Given the description of an element on the screen output the (x, y) to click on. 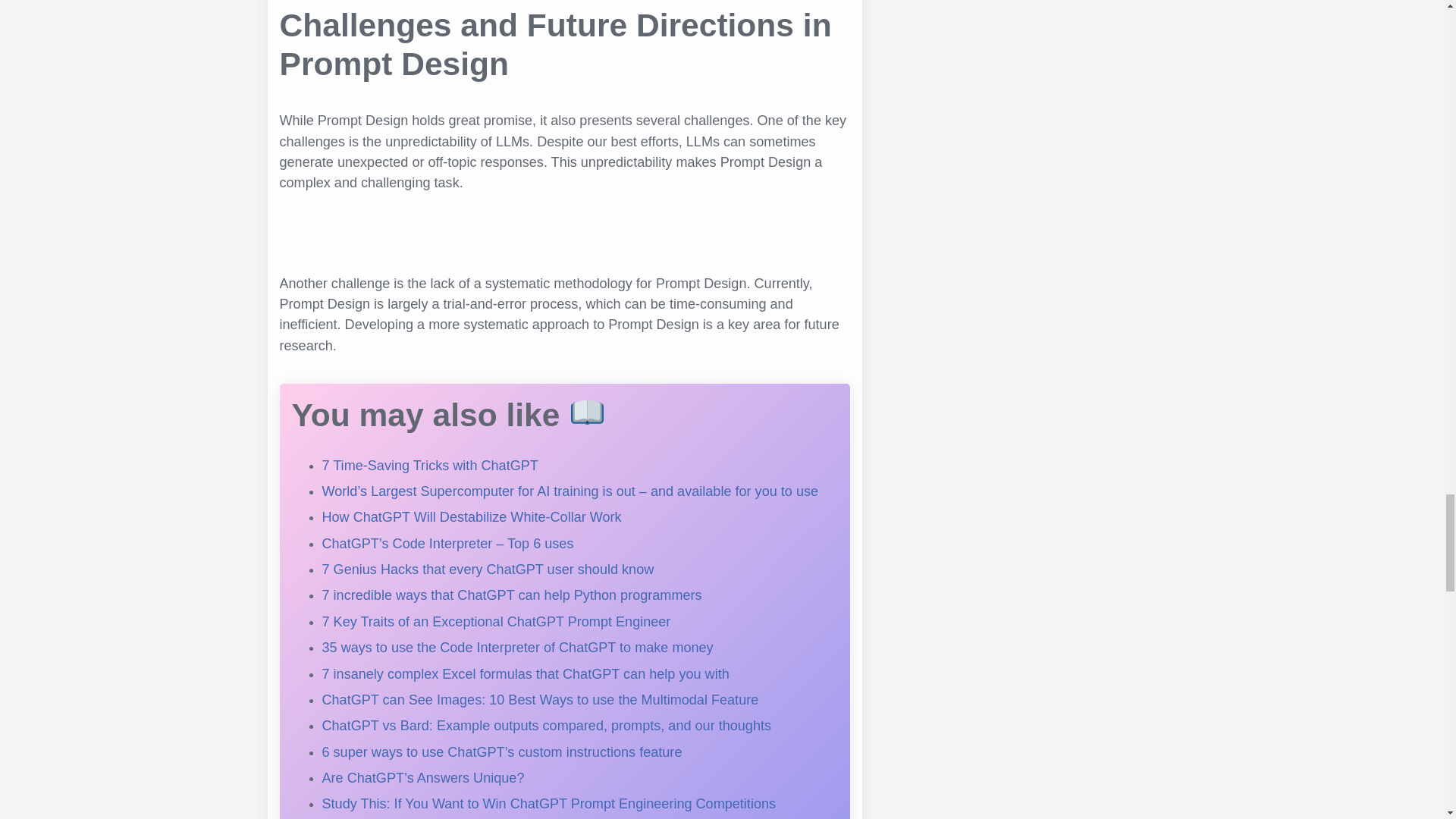
35 ways to use the Code Interpreter of ChatGPT to make money (517, 647)
7 incredible ways that ChatGPT can help Python programmers (511, 595)
7 Key Traits of an Exceptional ChatGPT Prompt Engineer (495, 621)
7 Time-Saving Tricks with ChatGPT (429, 465)
How ChatGPT Will Destabilize White-Collar Work (471, 516)
7 Genius Hacks that every ChatGPT user should know (487, 569)
